Given the description of an element on the screen output the (x, y) to click on. 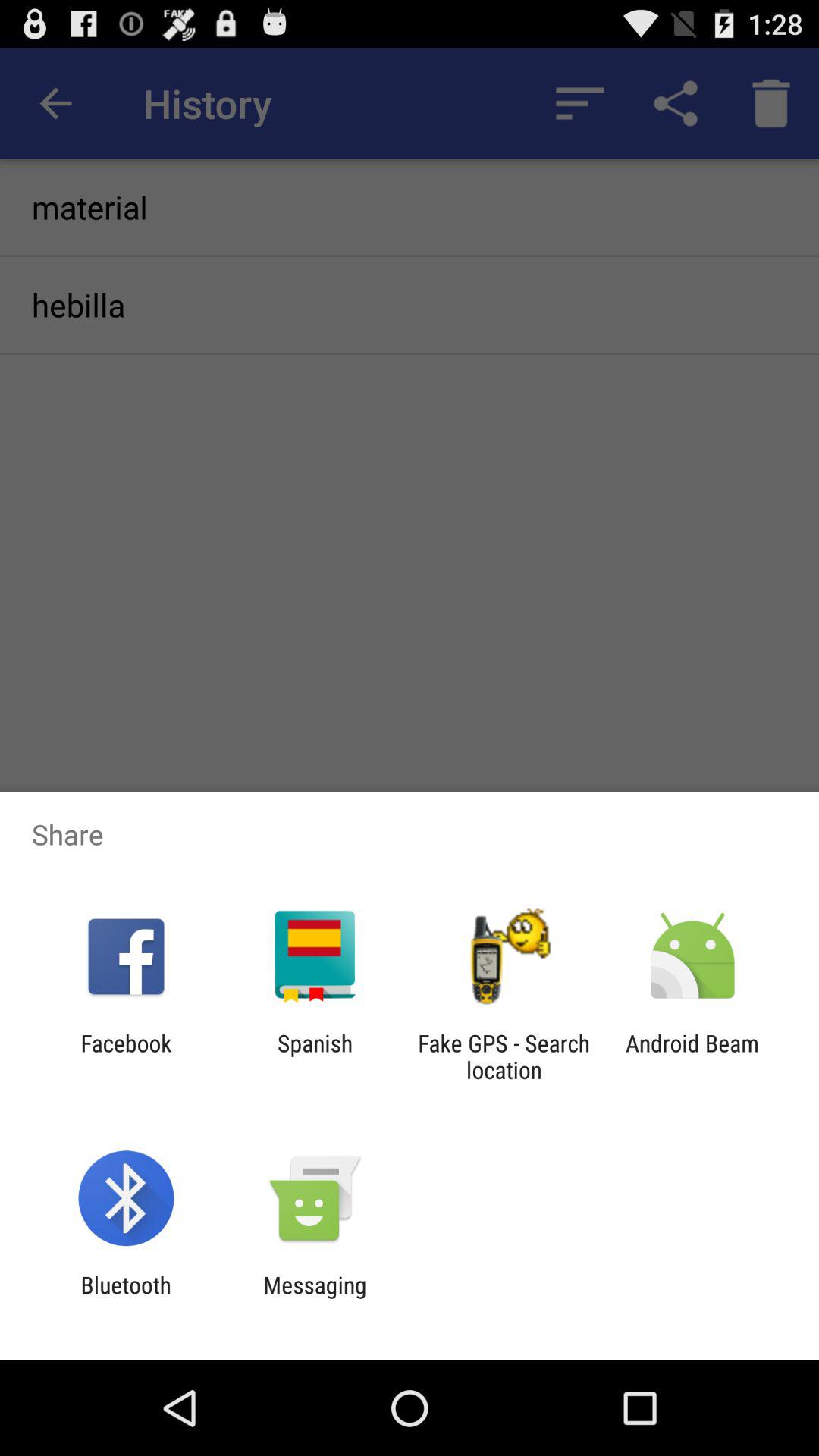
scroll until spanish item (314, 1056)
